Given the description of an element on the screen output the (x, y) to click on. 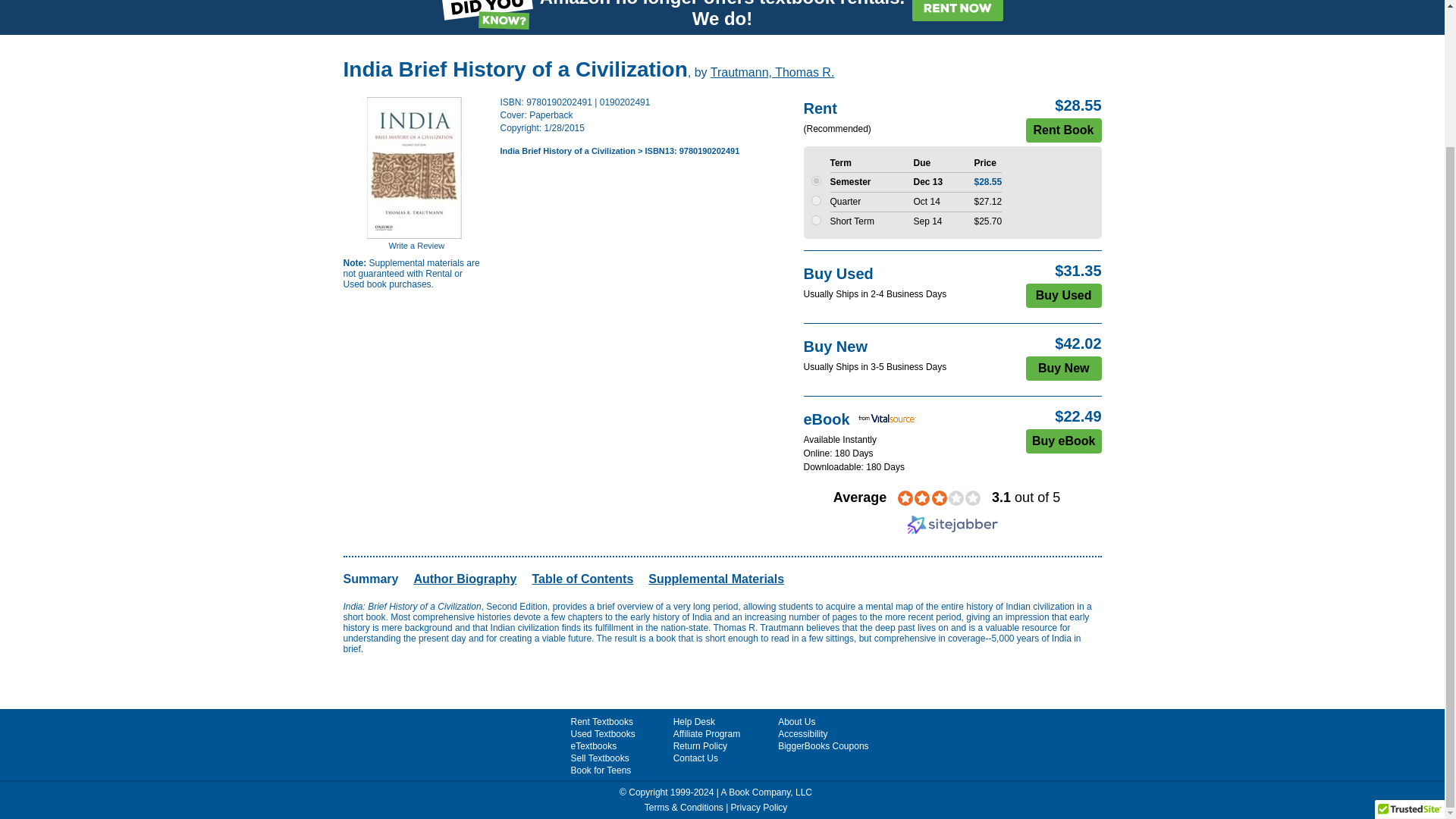
Buy eBook (1064, 441)
Summary (369, 578)
3.1 star rating (938, 498)
Rent Book (1062, 129)
India Brief History of a Civilization (567, 150)
Rent Book (1062, 129)
Author Biography (464, 578)
Rent Textbooks (601, 721)
Book for Teens (600, 769)
Help Desk (693, 721)
Used Textbooks (602, 733)
Buy Used (1064, 295)
Affiliate Program (705, 733)
Average (859, 497)
Buy eBook (1064, 441)
